Given the description of an element on the screen output the (x, y) to click on. 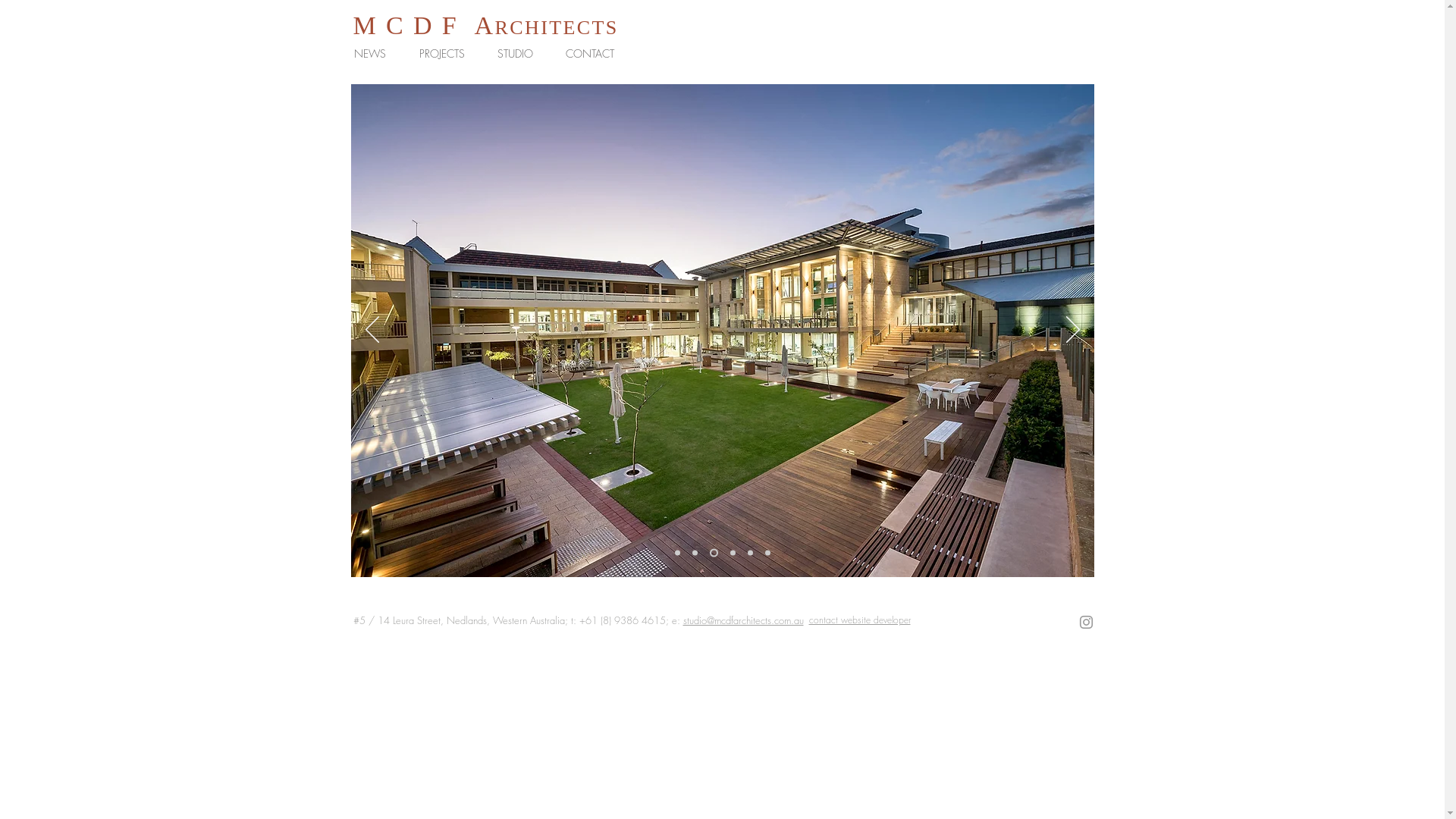
PROJECTS Element type: text (446, 53)
A Element type: text (484, 25)
M C D F Element type: text (405, 25)
RCHITECTS Element type: text (556, 27)
contact website developer Element type: text (859, 619)
studio@mcdfarchitects.com.au Element type: text (742, 620)
STUDIO Element type: text (519, 53)
NEWS Element type: text (374, 53)
CONTACT Element type: text (593, 53)
  Element type: text (465, 25)
